Given the description of an element on the screen output the (x, y) to click on. 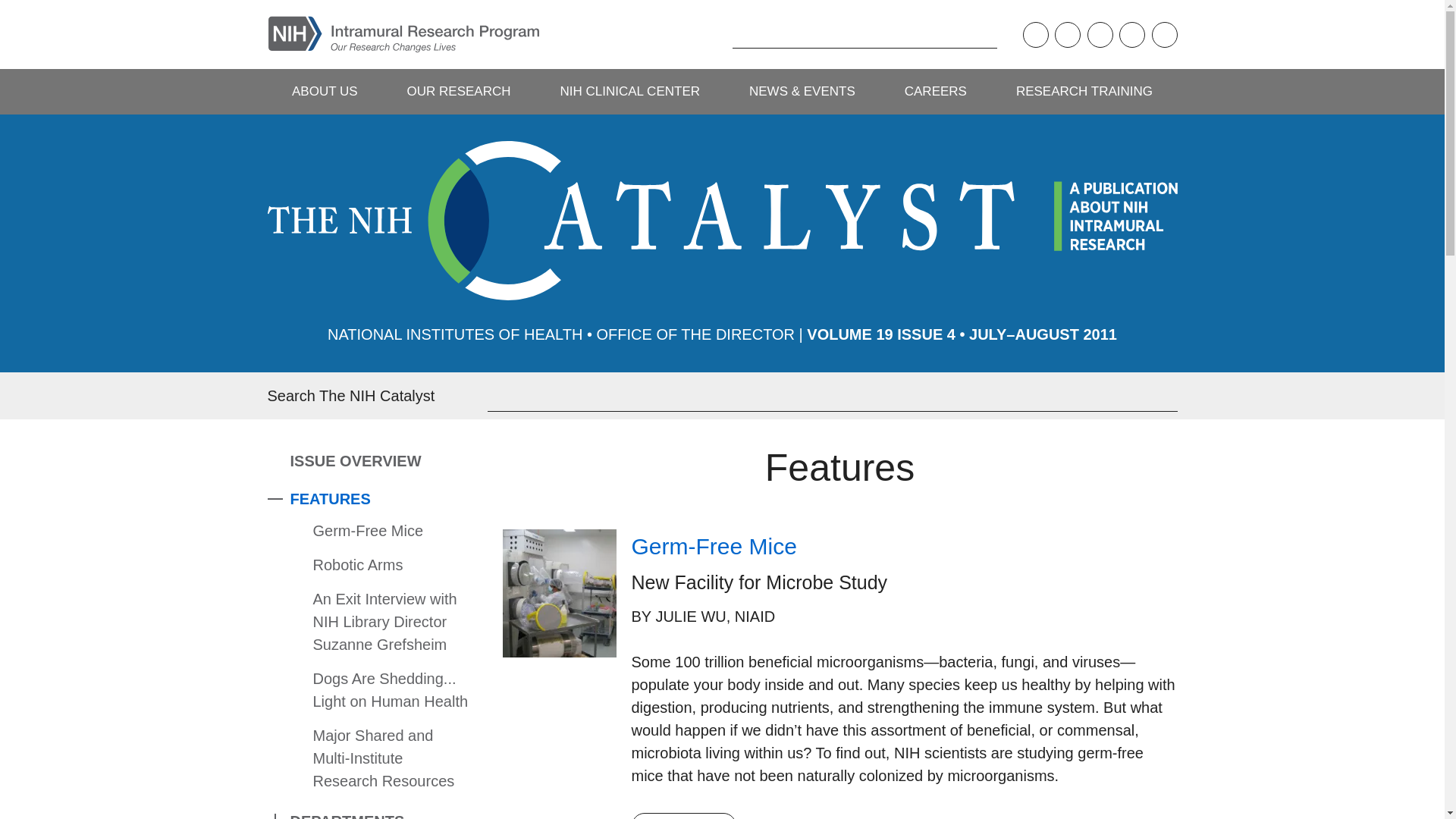
ABOUT US (323, 91)
Skip to main content (11, 11)
SEARCH (707, 34)
Podcast (1035, 34)
